Given the description of an element on the screen output the (x, y) to click on. 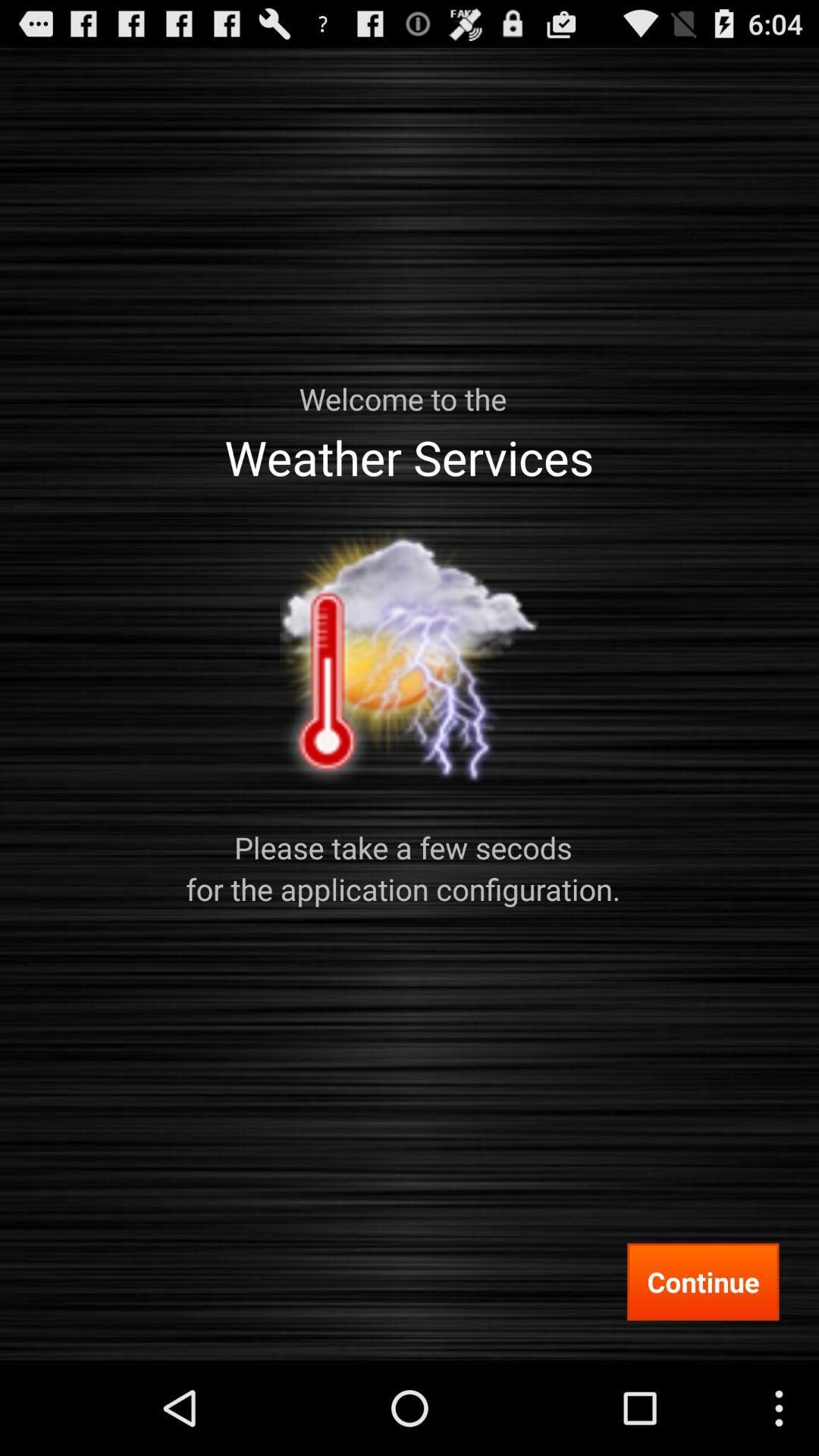
choose the item below the please take a (703, 1281)
